Given the description of an element on the screen output the (x, y) to click on. 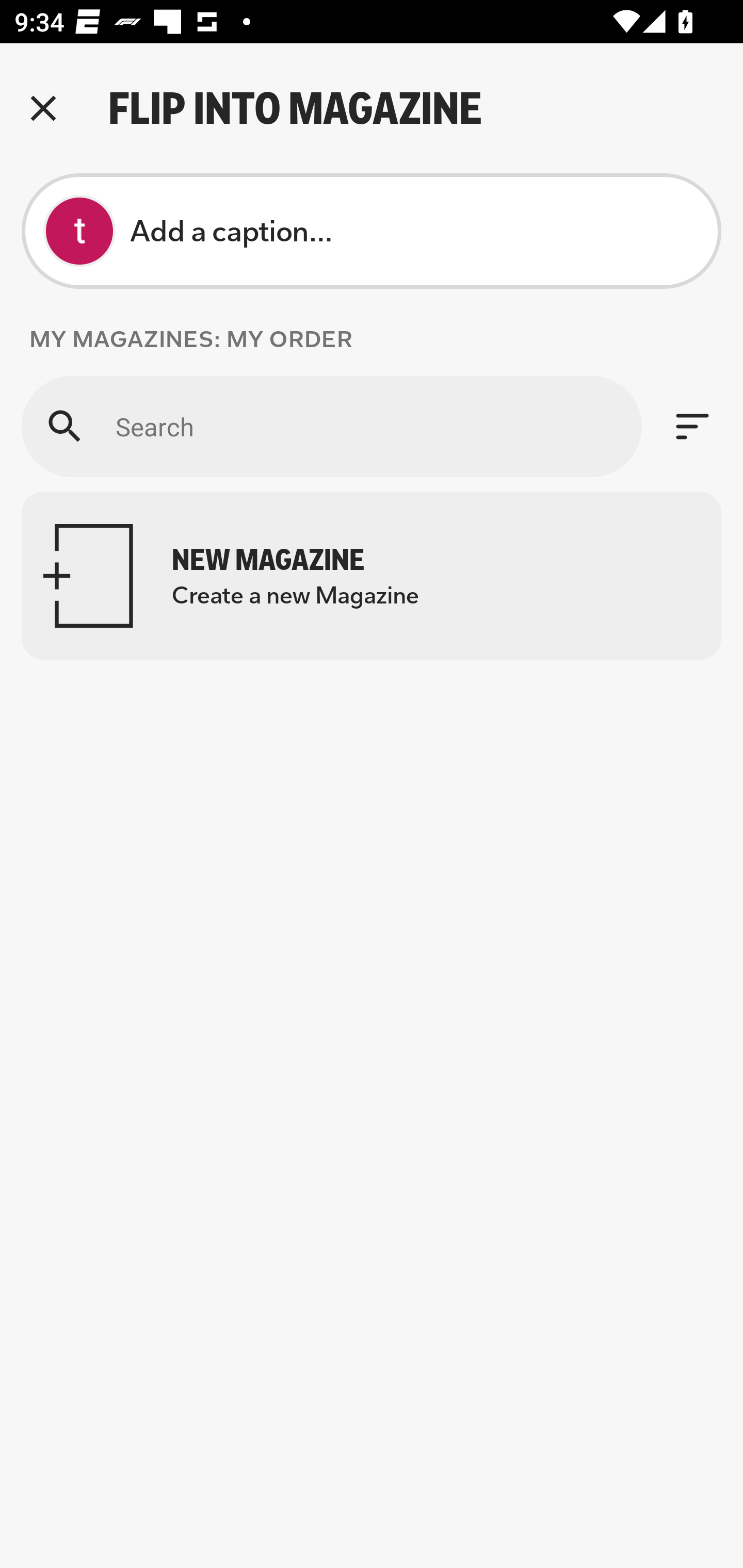
test appium Add a caption… (371, 231)
Search (331, 426)
NEW MAGAZINE Create a new Magazine (371, 575)
